Given the description of an element on the screen output the (x, y) to click on. 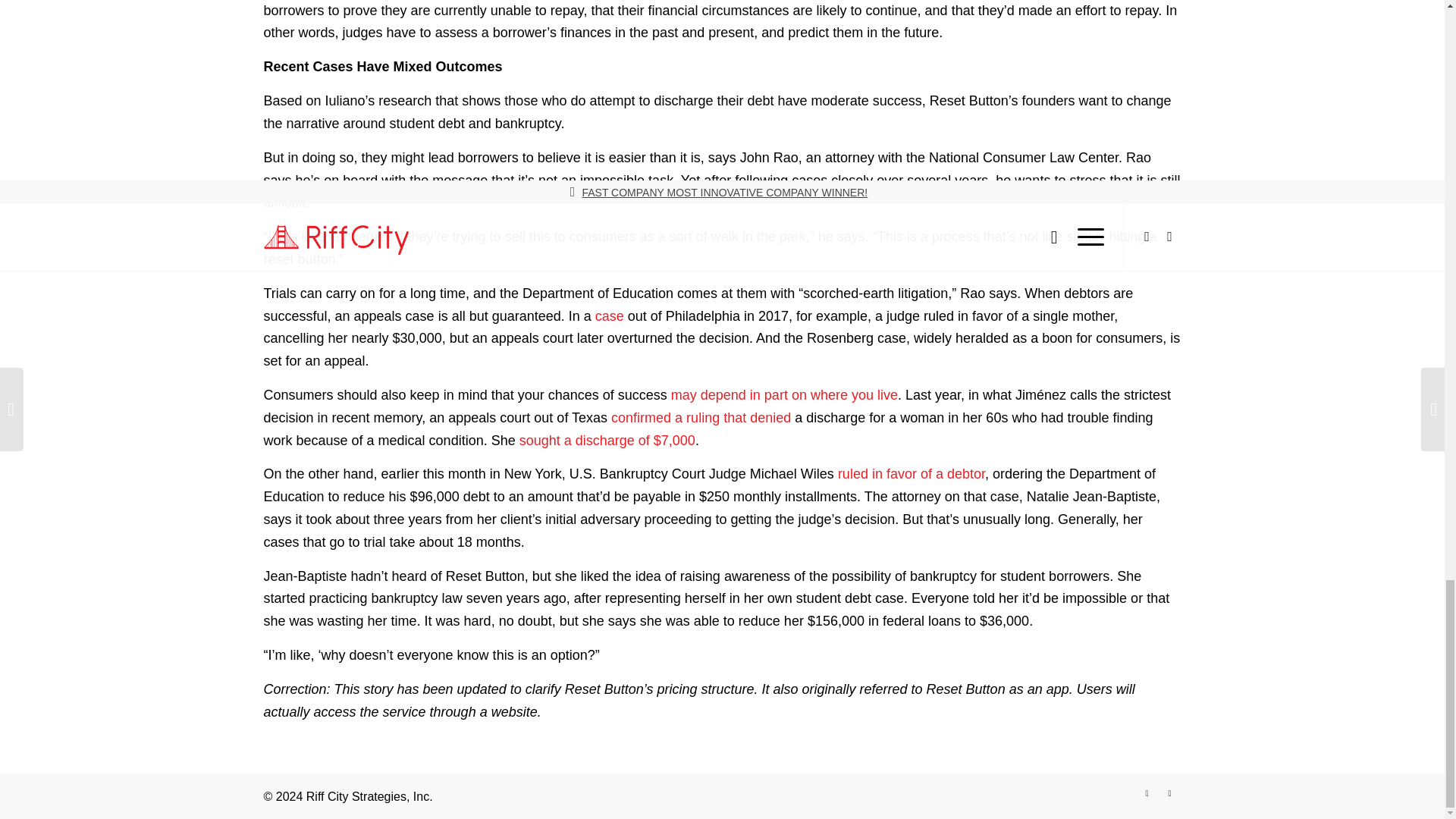
may depend in part on where you live (784, 394)
ruled in favor of a debtor (911, 473)
confirmed a ruling that denied (700, 417)
case (609, 315)
